Given the description of an element on the screen output the (x, y) to click on. 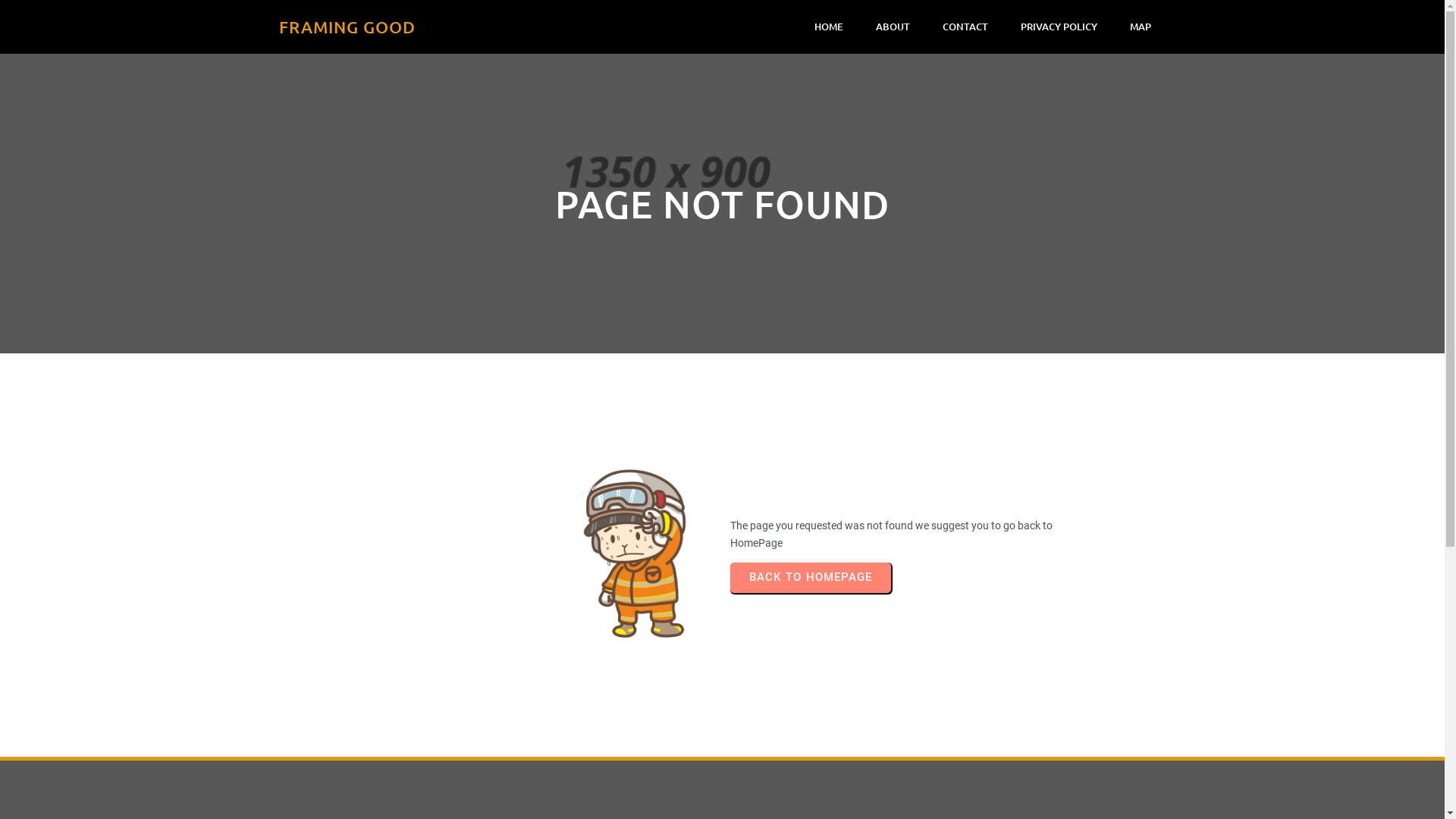
ABOUT Element type: text (891, 26)
FRAMING GOOD Element type: text (500, 26)
PRIVACY POLICY Element type: text (1058, 26)
HOME Element type: text (828, 26)
MAP Element type: text (1140, 26)
BACK TO HOMEPAGE Element type: text (809, 577)
CONTACT Element type: text (964, 26)
